Given the description of an element on the screen output the (x, y) to click on. 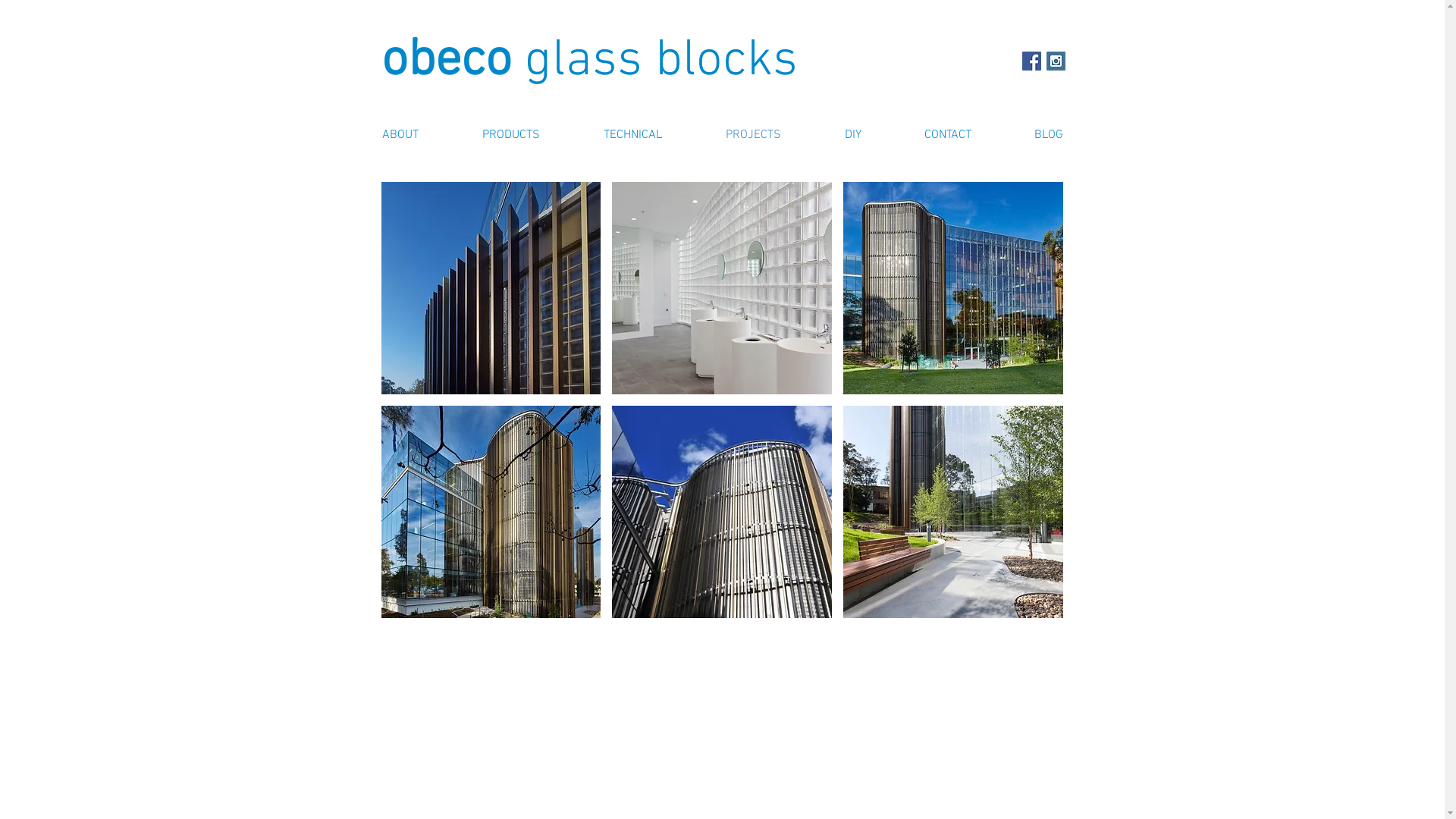
DIY Element type: text (852, 135)
CONTACT Element type: text (946, 135)
TECHNICAL Element type: text (632, 135)
PRODUCTS Element type: text (510, 135)
PROJECTS Element type: text (752, 135)
BLOG Element type: text (1048, 135)
ABOUT Element type: text (399, 135)
obeco glass blocks Element type: text (588, 61)
